Given the description of an element on the screen output the (x, y) to click on. 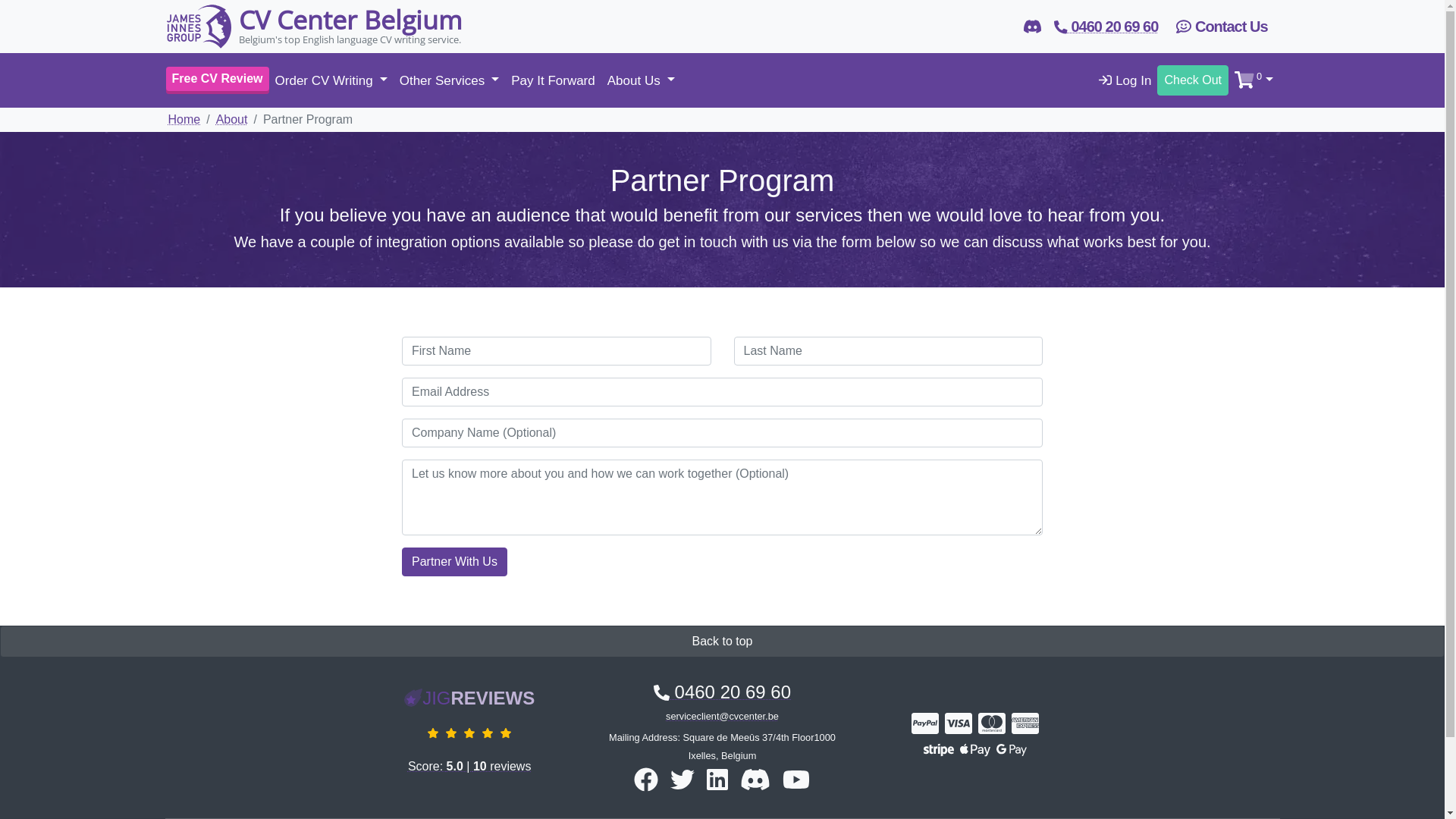
About Us Element type: text (640, 81)
Back to top Element type: text (722, 641)
Contact Us Element type: text (1221, 26)
 0 Element type: text (1253, 81)
Partner With Us Element type: text (454, 561)
Order CV Writing Element type: text (331, 81)
Free CV Review Element type: text (216, 80)
About Element type: text (231, 118)
James Innes Group's logo Element type: hover (198, 26)
Home Element type: text (184, 118)
Score: 5.0 | 10 reviews Element type: text (469, 745)
 Log In Element type: text (1124, 81)
Other Services Element type: text (449, 81)
serviceclient@cvcenter.be Element type: text (721, 715)
Check Out Element type: text (1192, 80)
0460 20 69 60 Element type: text (721, 691)
Pay It Forward Element type: text (553, 81)
0460 20 69 60 Element type: text (1105, 26)
